Given the description of an element on the screen output the (x, y) to click on. 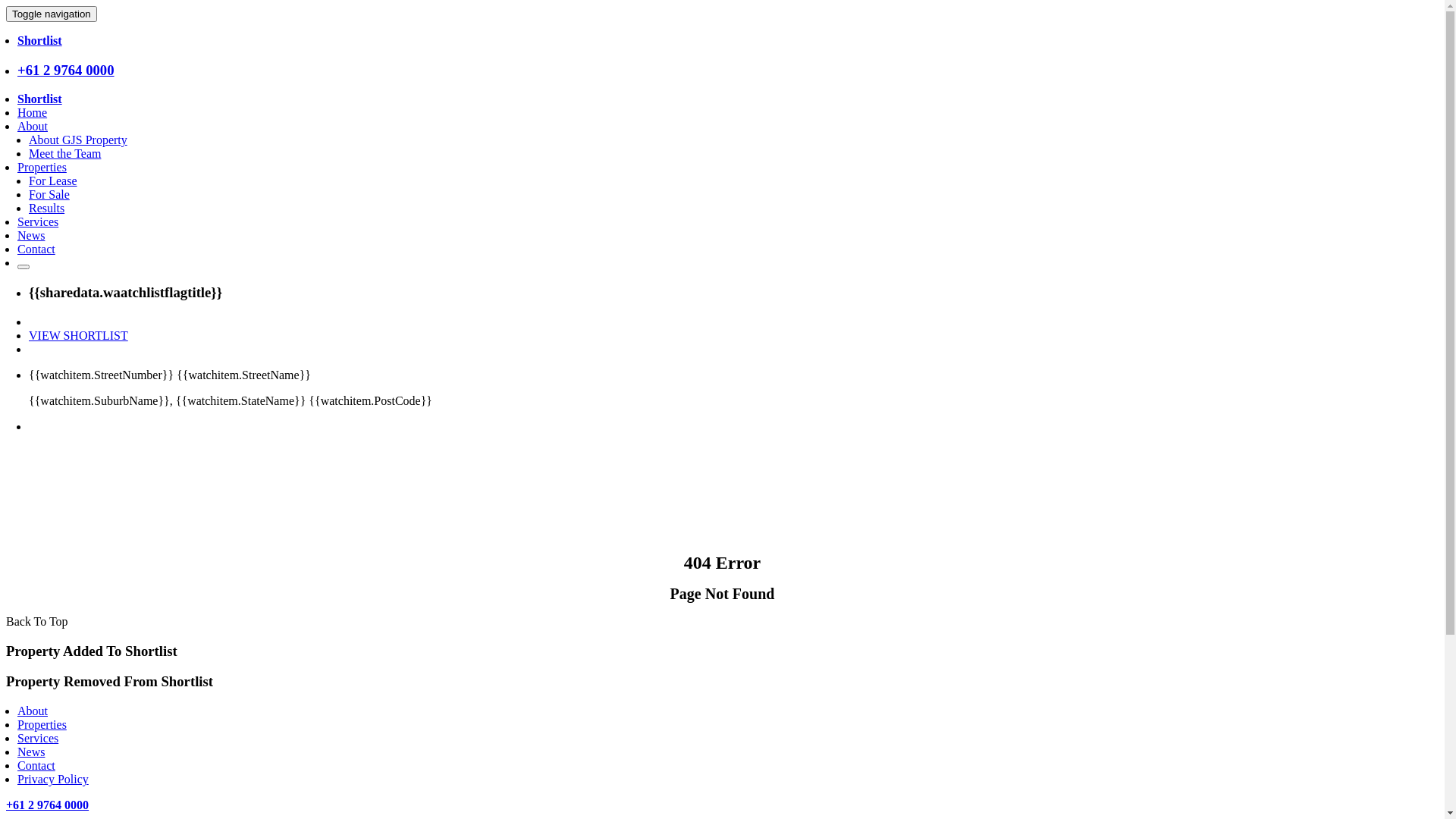
About GJS Property Element type: text (77, 139)
Results Element type: text (46, 207)
Privacy Policy Element type: text (52, 778)
Contact Element type: text (36, 765)
Meet the Team Element type: text (64, 153)
Home Element type: text (32, 112)
For Sale Element type: text (48, 194)
Shortlist Element type: text (39, 40)
For Lease Element type: text (52, 180)
News Element type: text (30, 235)
Toggle navigation Element type: text (51, 13)
Services Element type: text (37, 221)
Services Element type: text (37, 737)
About Element type: text (32, 710)
News Element type: text (30, 751)
+61 2 9764 0000 Element type: text (65, 70)
+61 2 9764 0000 Element type: text (47, 804)
About Element type: text (32, 125)
VIEW SHORTLIST Element type: text (78, 335)
Back To Top Element type: text (37, 621)
Properties Element type: text (41, 166)
Properties Element type: text (41, 724)
Contact Element type: text (36, 248)
Shortlist Element type: text (39, 98)
